Given the description of an element on the screen output the (x, y) to click on. 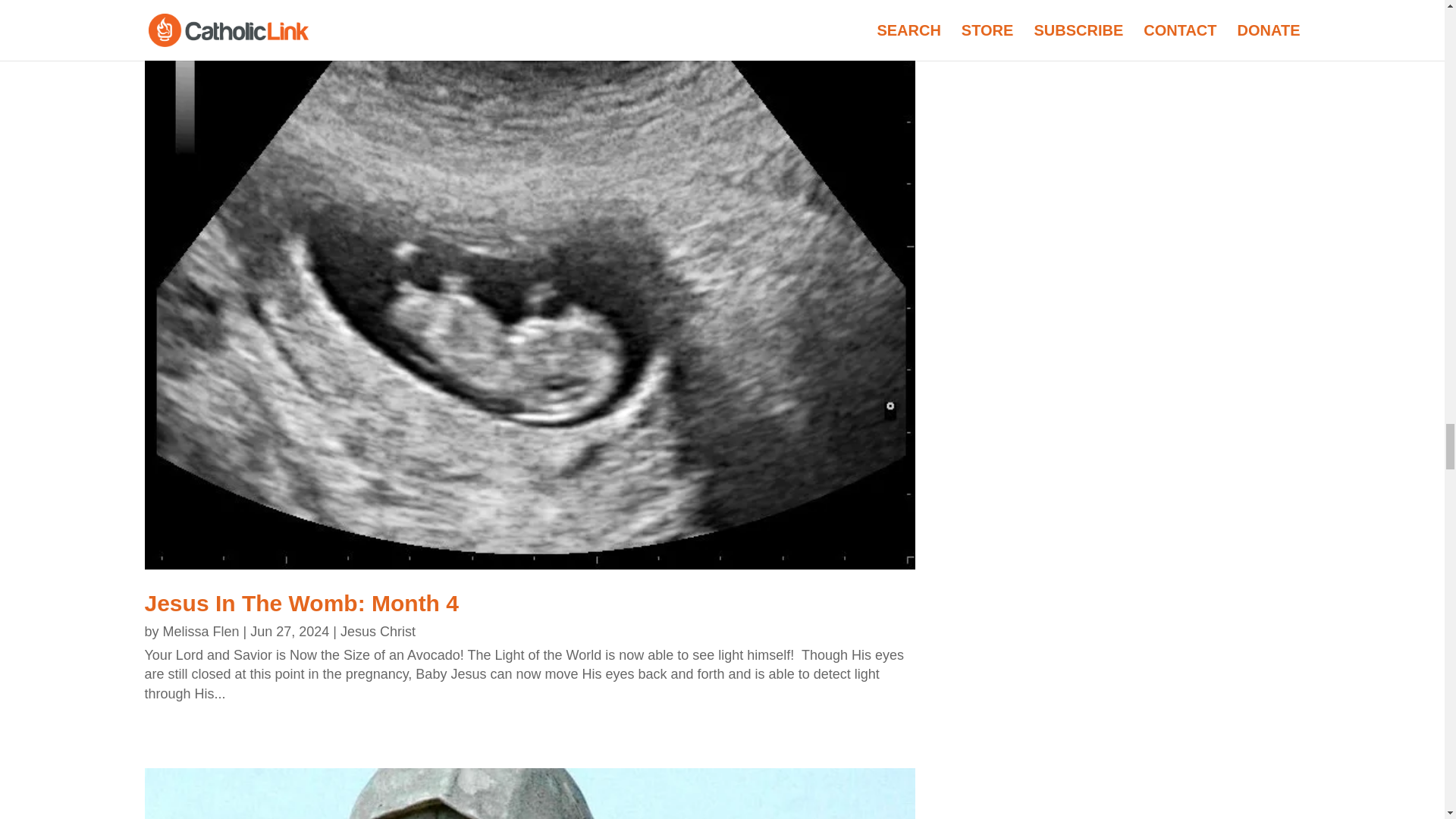
Posts by Melissa Flen (201, 631)
